Given the description of an element on the screen output the (x, y) to click on. 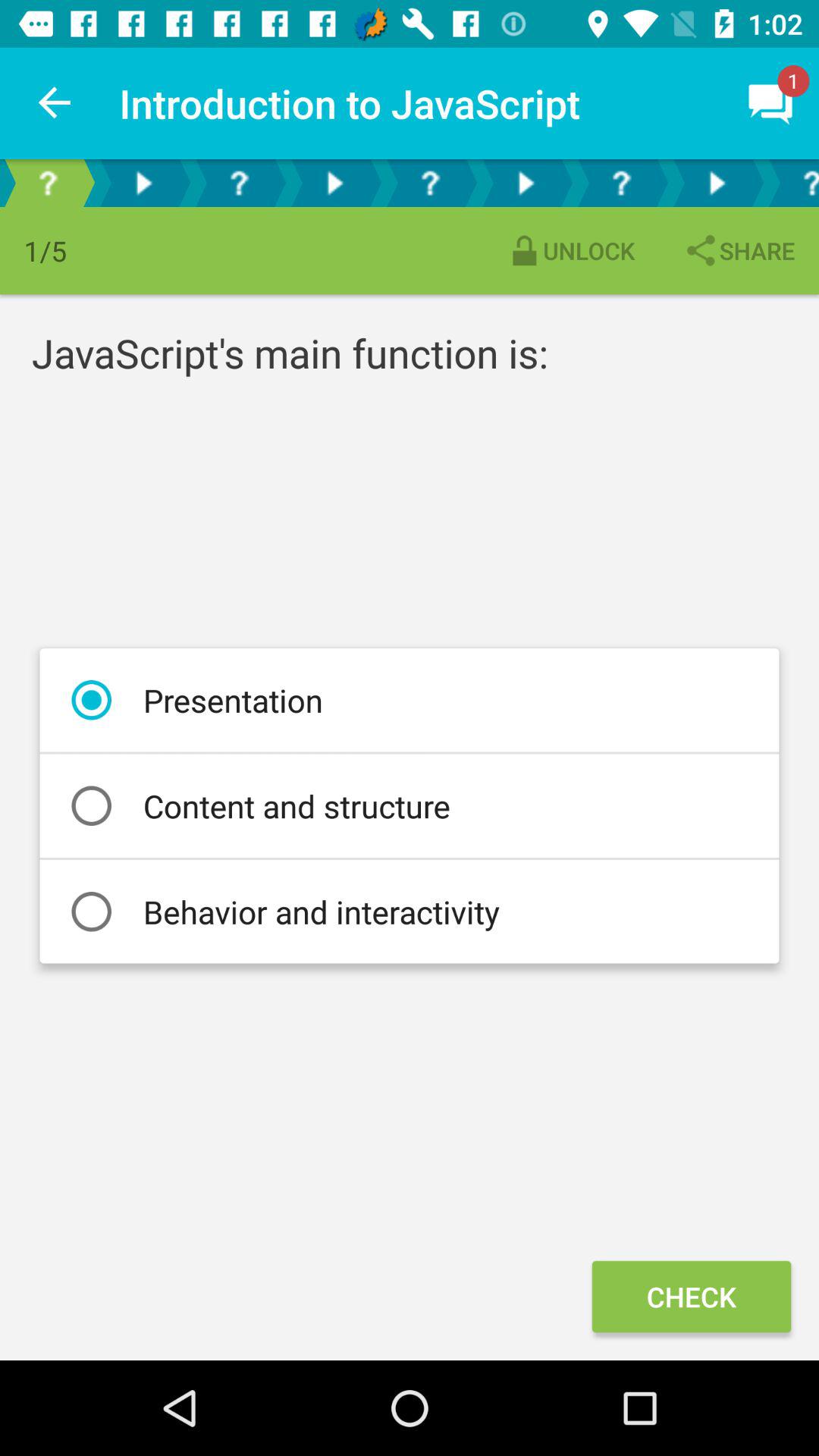
tap the item above javascript s main (570, 250)
